Given the description of an element on the screen output the (x, y) to click on. 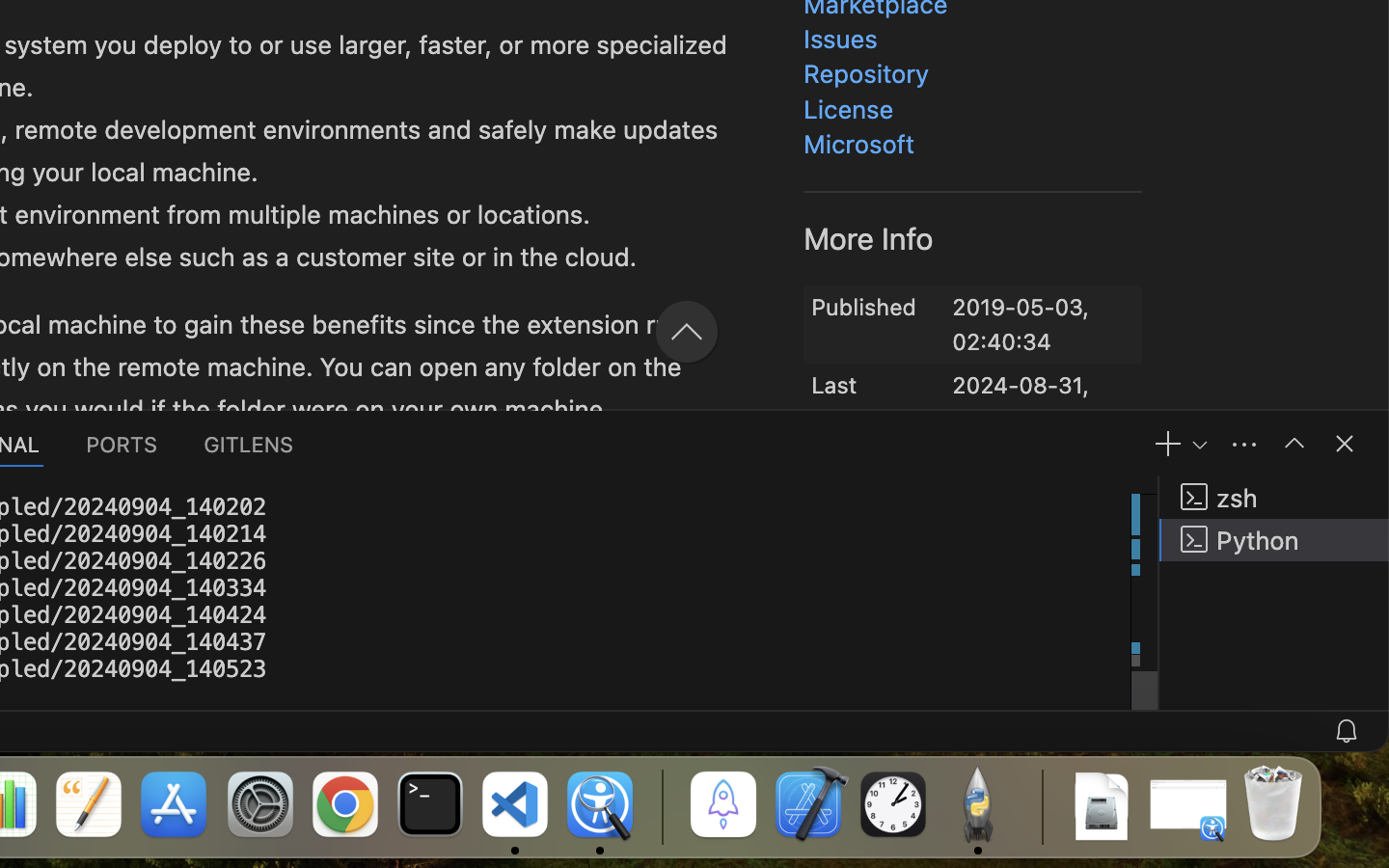
More Info Element type: AXStaticText (868, 237)
